Given the description of an element on the screen output the (x, y) to click on. 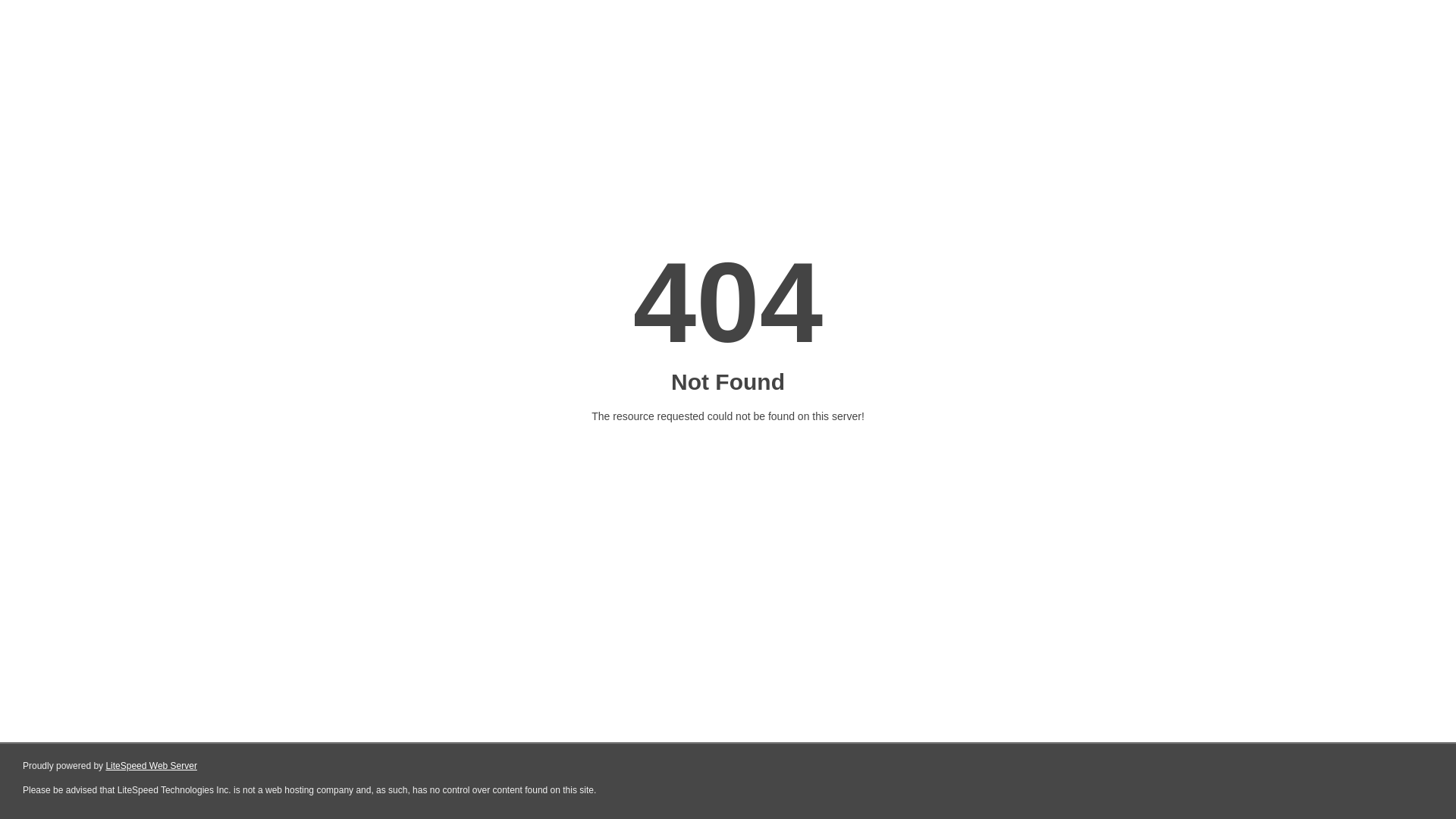
LiteSpeed Web Server Element type: text (151, 765)
